Given the description of an element on the screen output the (x, y) to click on. 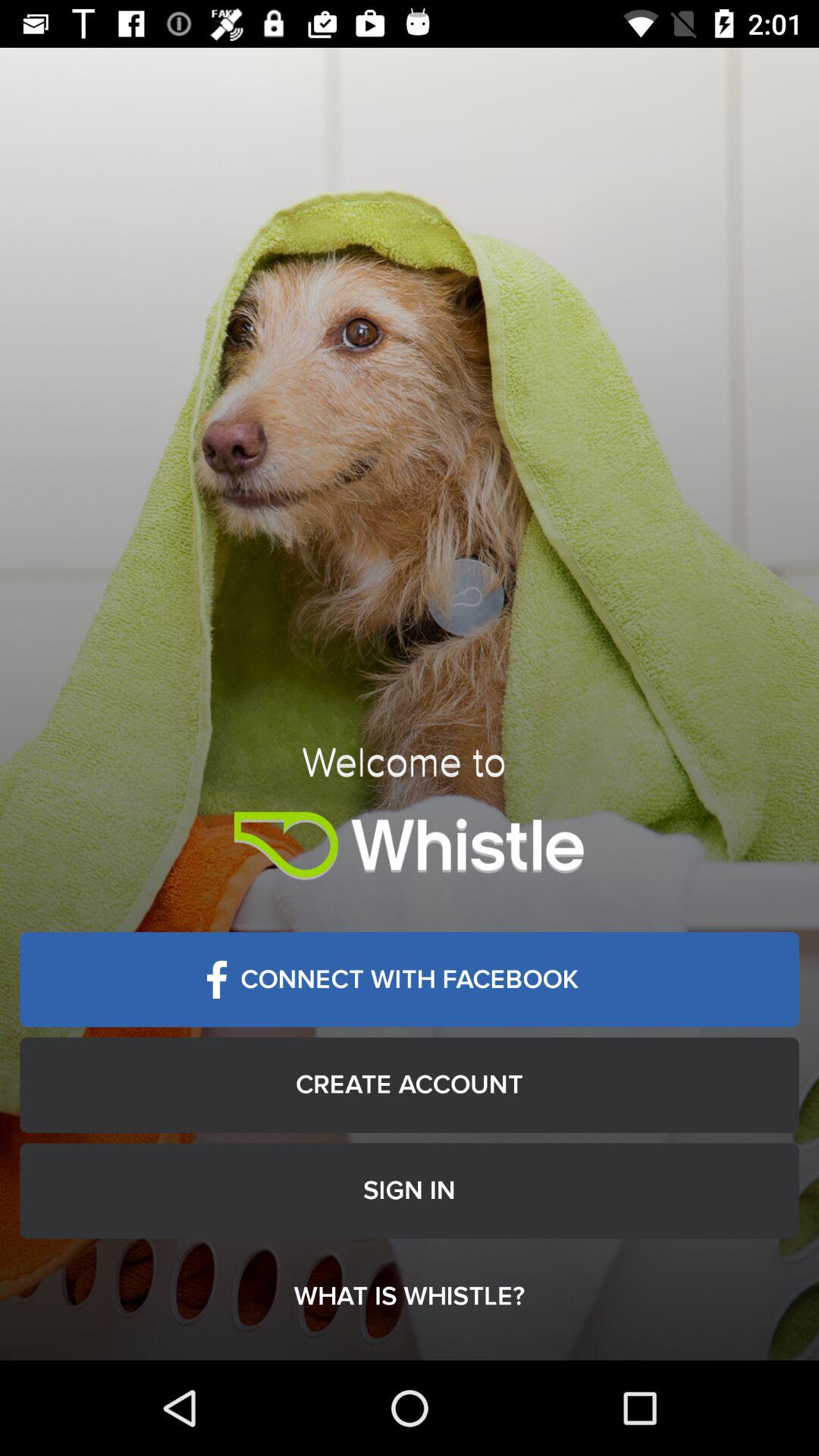
jump until the what is whistle? item (409, 1296)
